Given the description of an element on the screen output the (x, y) to click on. 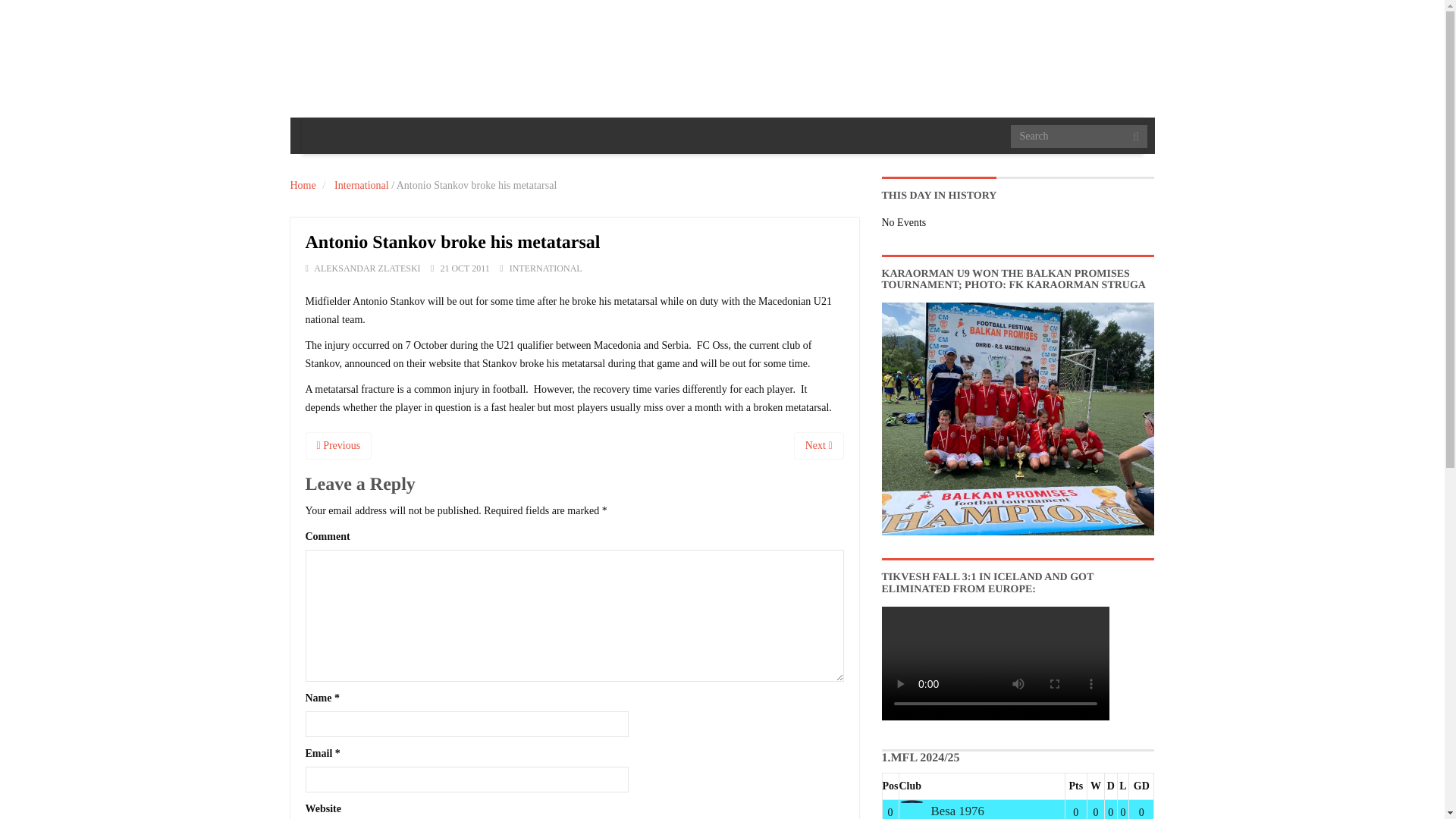
Posts by Aleksandar Zlateski (367, 267)
